Given the description of an element on the screen output the (x, y) to click on. 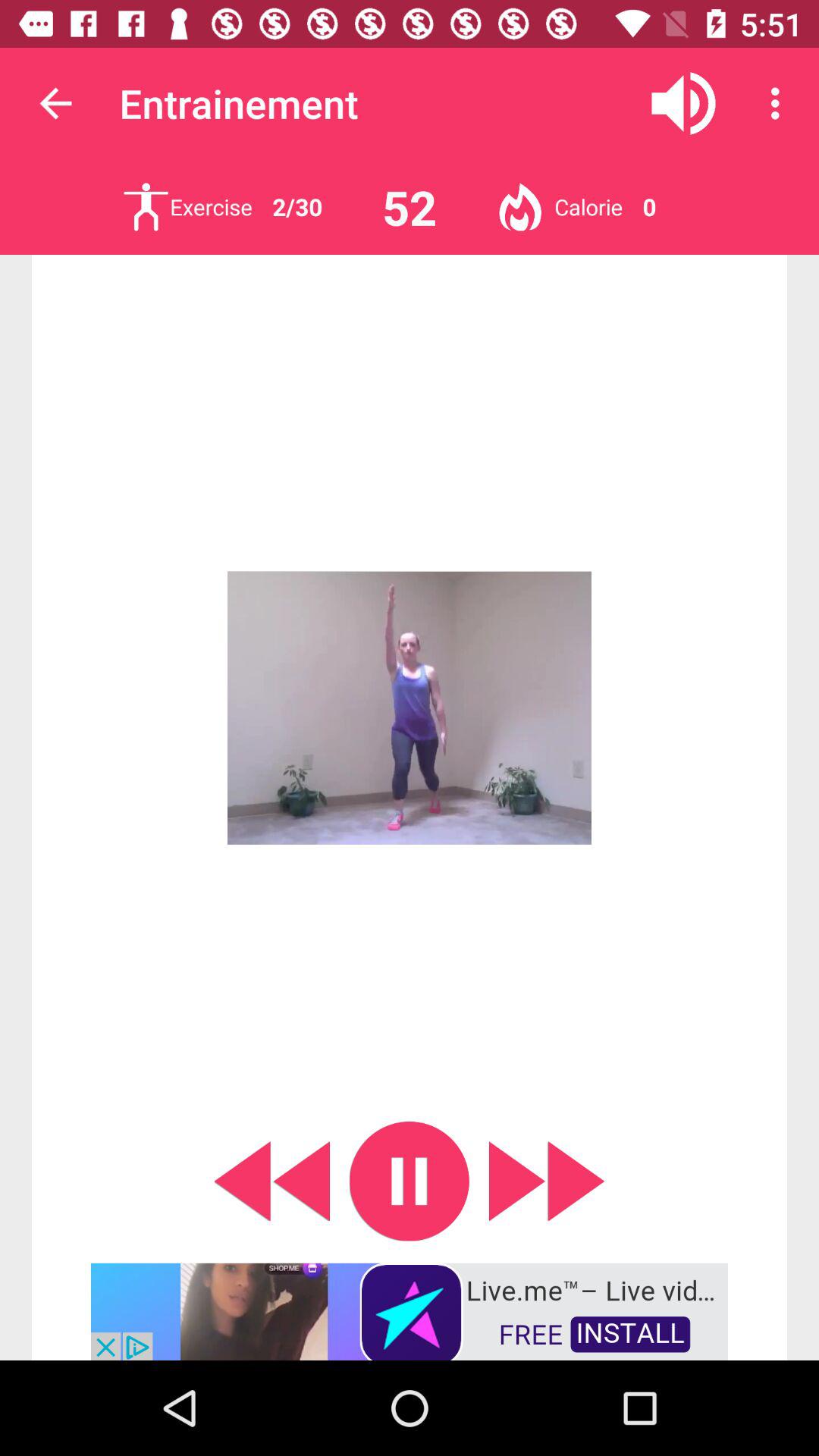
rewind back (271, 1181)
